Given the description of an element on the screen output the (x, y) to click on. 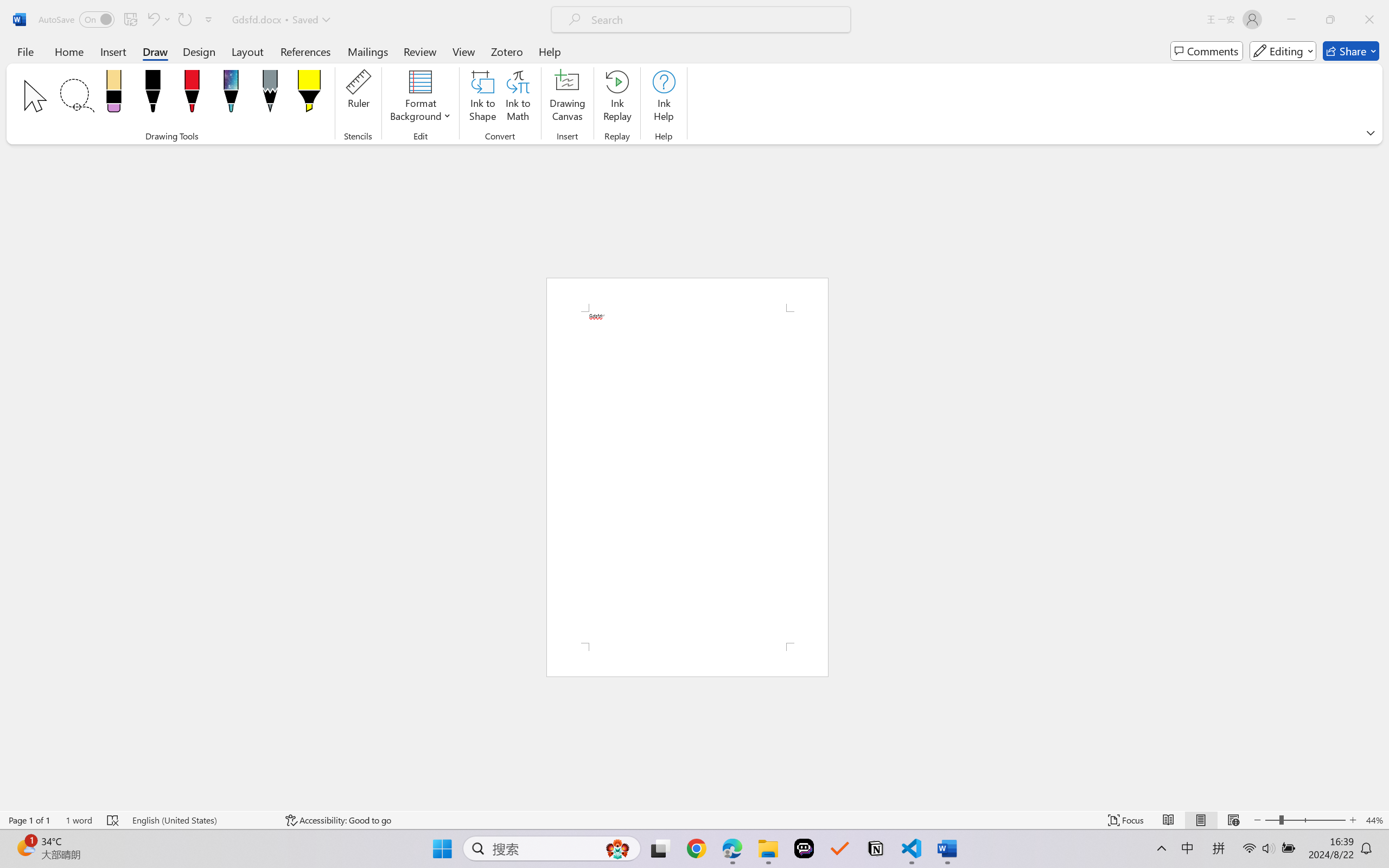
Ink Help (663, 97)
Pen: Black, 0.5 mm (152, 94)
Poe (804, 848)
Zoom 44% (1374, 819)
